Given the description of an element on the screen output the (x, y) to click on. 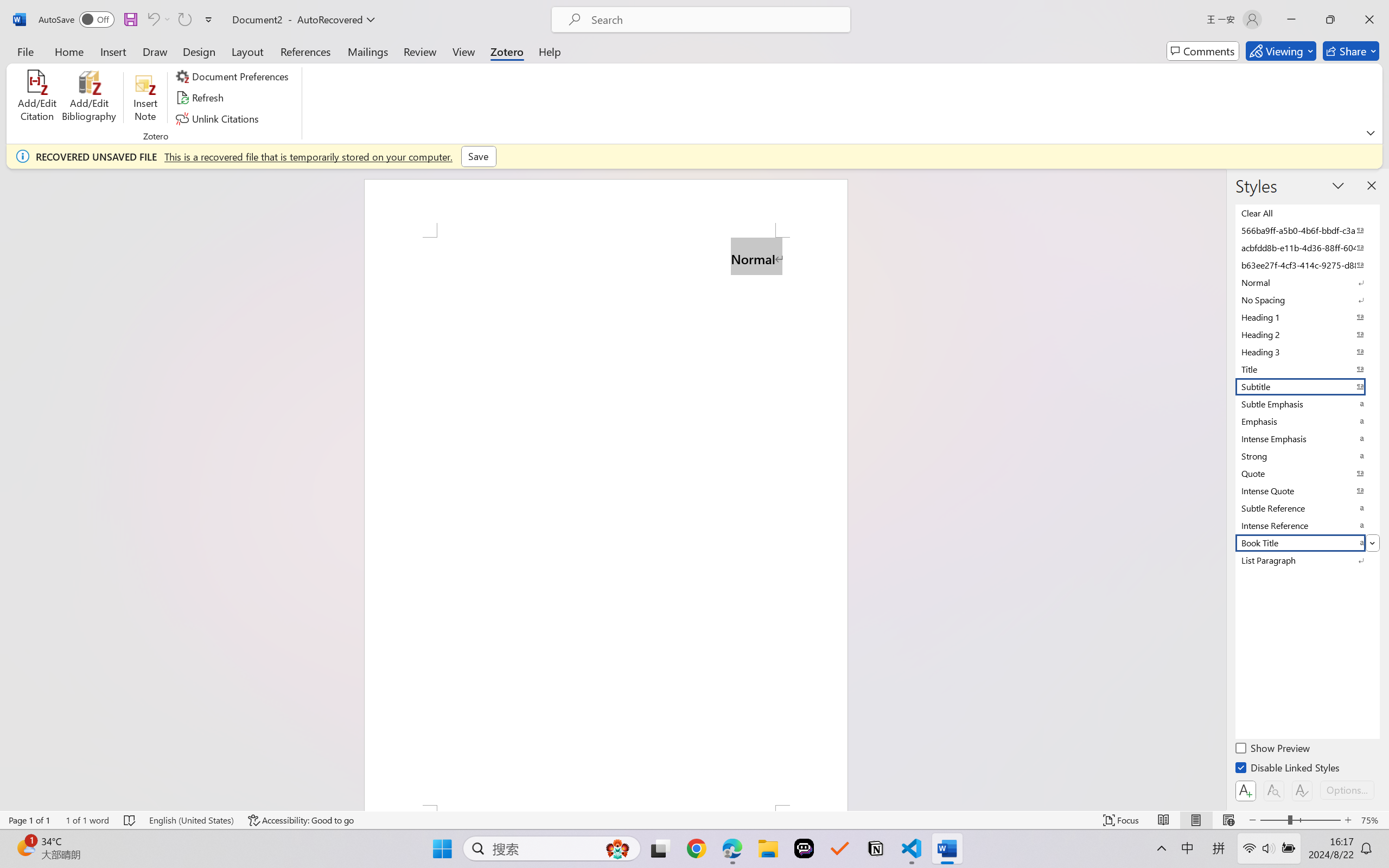
Refresh (201, 97)
Intense Quote (1306, 490)
Class: NetUIButton (1301, 790)
Task Pane Options (1338, 185)
Heading 2 (1306, 334)
Clear All (1306, 213)
Class: MsoCommandBar (694, 819)
